Given the description of an element on the screen output the (x, y) to click on. 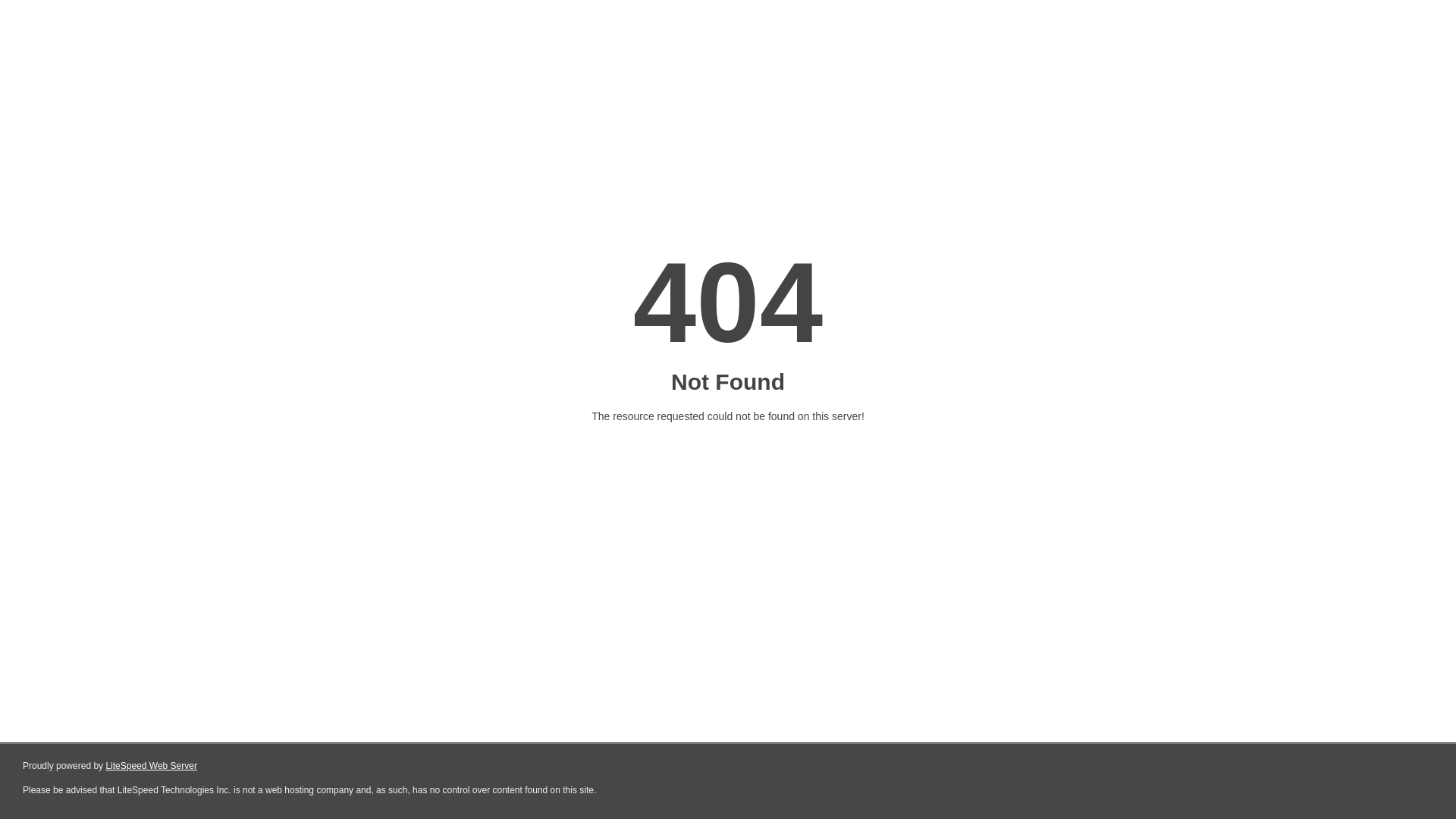
LiteSpeed Web Server Element type: text (151, 765)
